Given the description of an element on the screen output the (x, y) to click on. 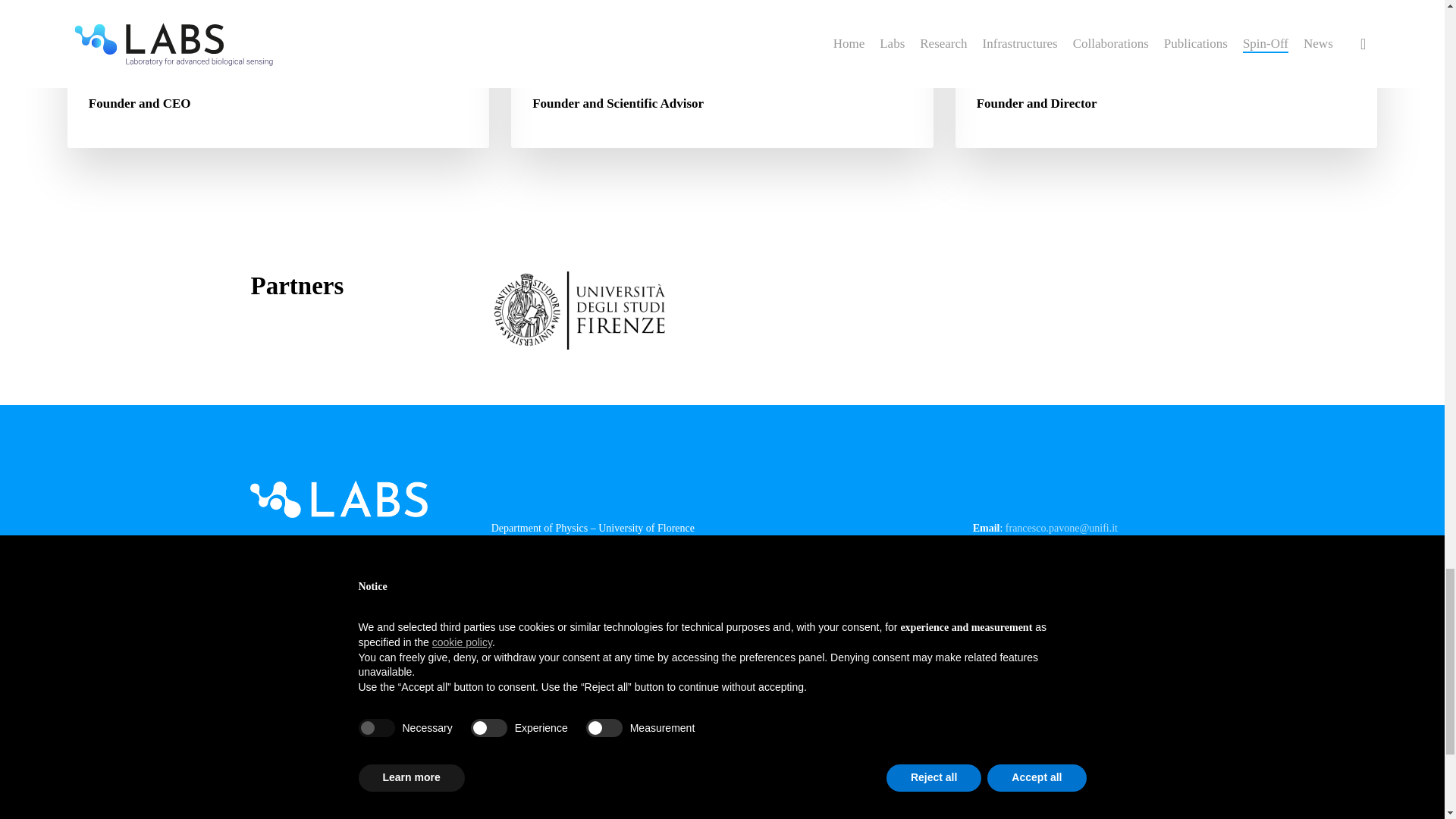
University Spin off (772, 614)
Researchers (757, 568)
Research (751, 546)
Infrastructures (762, 636)
Publications (758, 591)
Collaborations (762, 659)
